Given the description of an element on the screen output the (x, y) to click on. 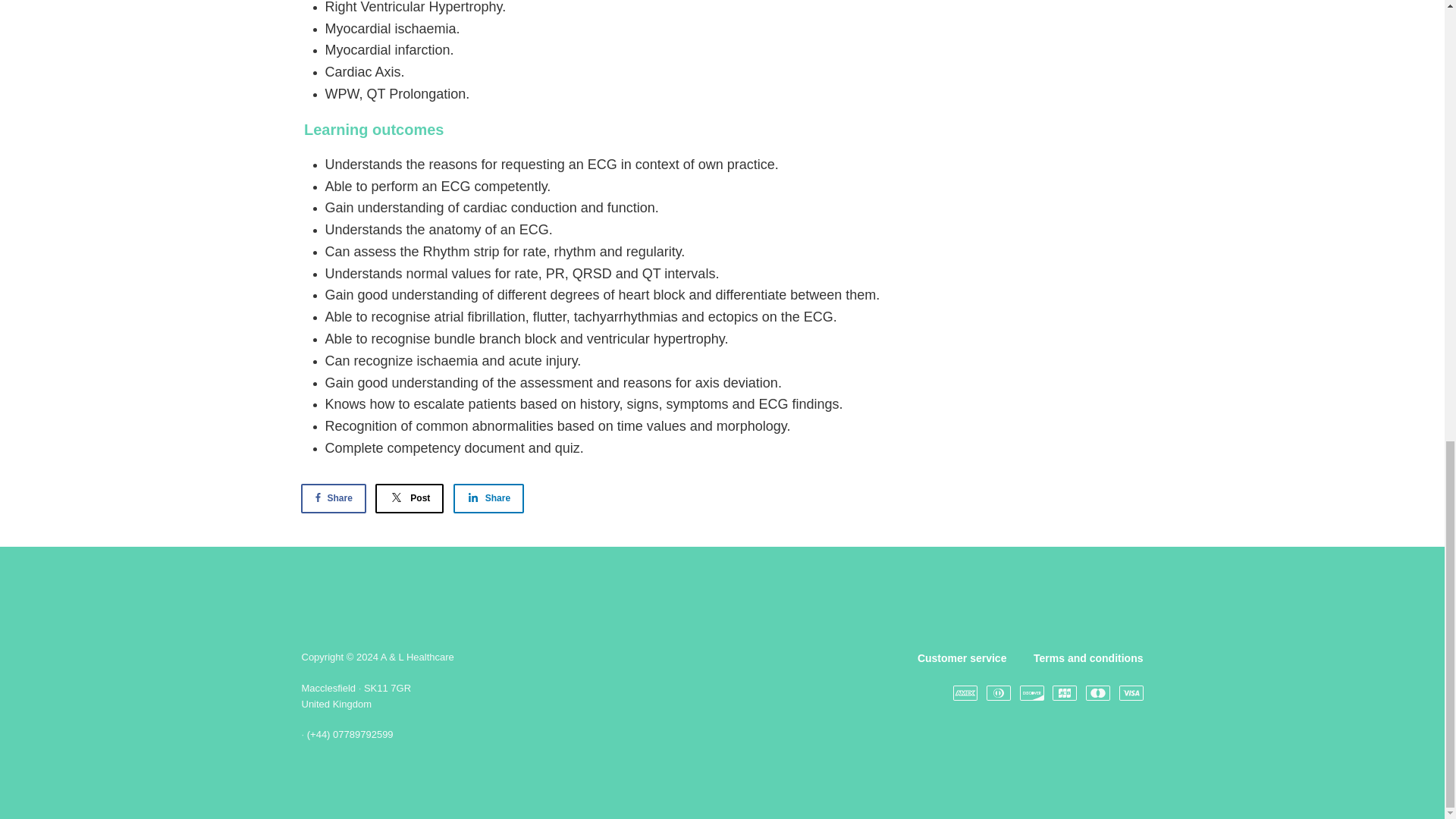
Share on Facebook (332, 498)
Share on LinkedIn (488, 498)
Post on X (409, 498)
